Given the description of an element on the screen output the (x, y) to click on. 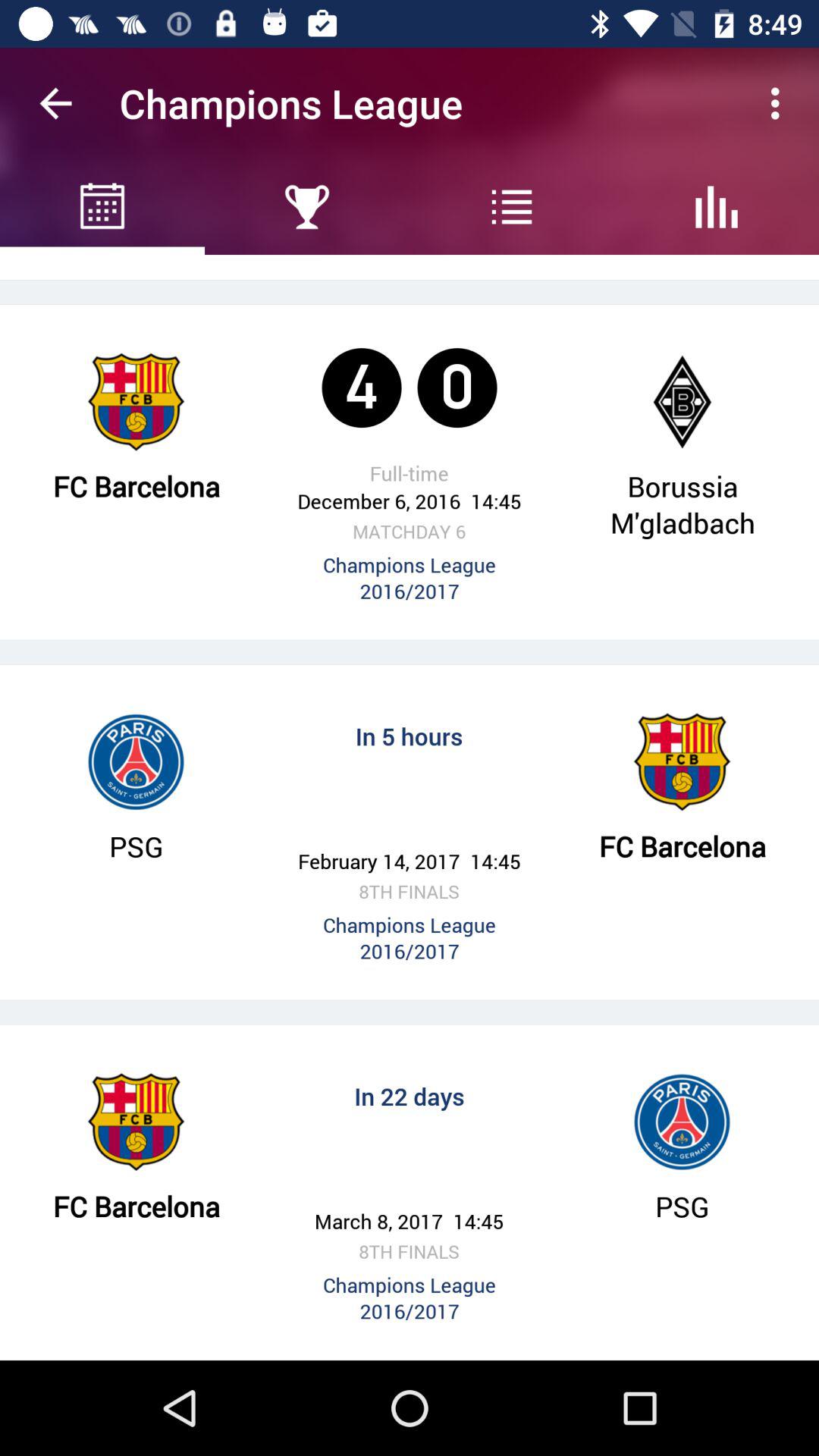
choose the icon next to the champions league item (55, 103)
